Given the description of an element on the screen output the (x, y) to click on. 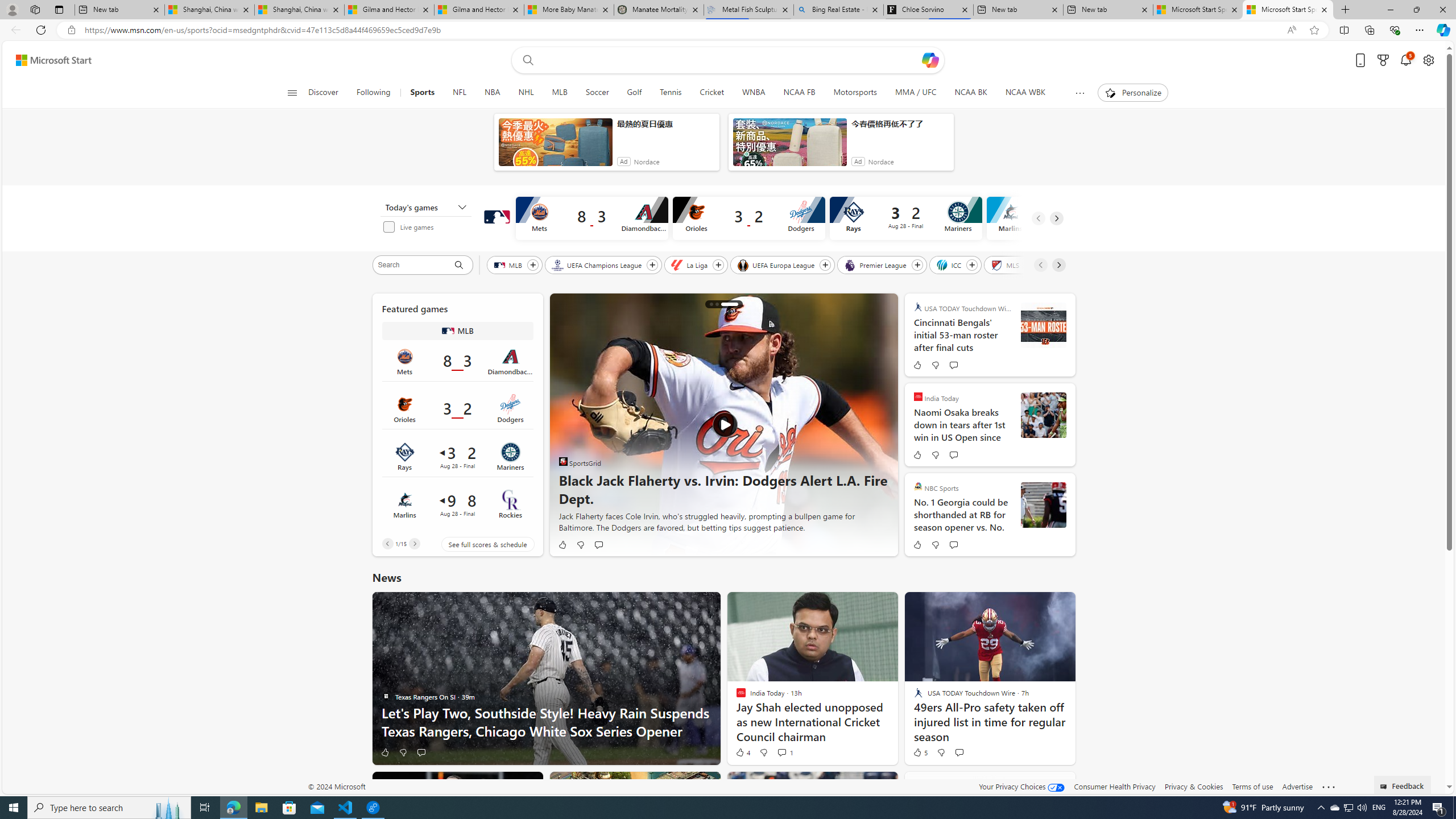
Cincinnati Bengals' initial 53-man roster after final cuts (961, 334)
MLB (559, 92)
ICC (948, 264)
WNBA (753, 92)
Chloe Sorvino (928, 9)
Terms of use (1252, 785)
Soccer (597, 92)
Open Copilot (930, 59)
Rays 3 vs Mariners 2Final Date Aug 28 (456, 456)
Skip to footer (46, 59)
Motorsports (855, 92)
Advertise (1297, 785)
Live games Unchecked (428, 226)
